Given the description of an element on the screen output the (x, y) to click on. 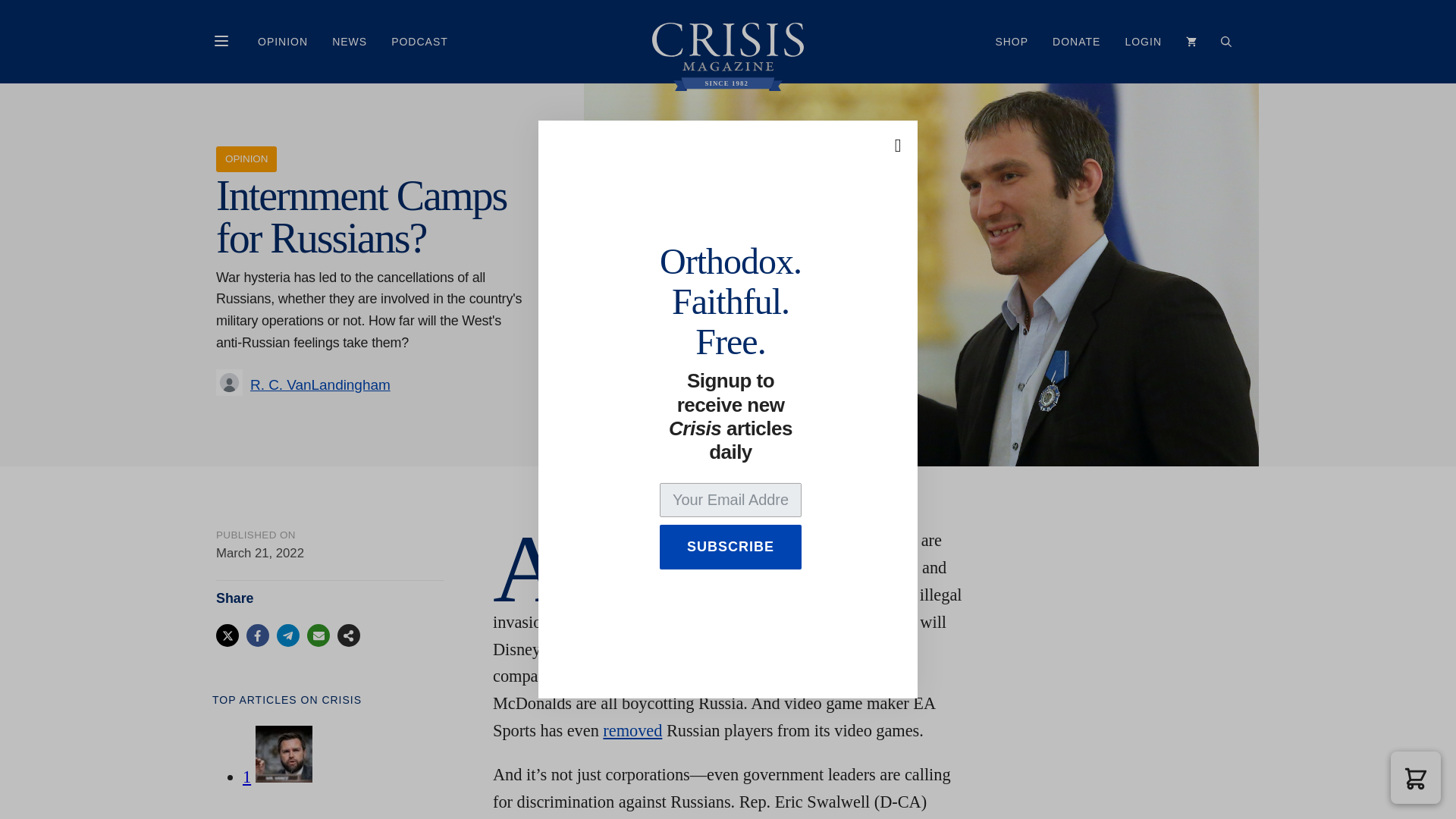
OPINION (283, 41)
NEWS (349, 41)
LOGIN (1142, 41)
R. C. VanLandingham (320, 384)
PODCAST (419, 41)
SHOP (1011, 41)
DONATE (1076, 41)
